Given the description of an element on the screen output the (x, y) to click on. 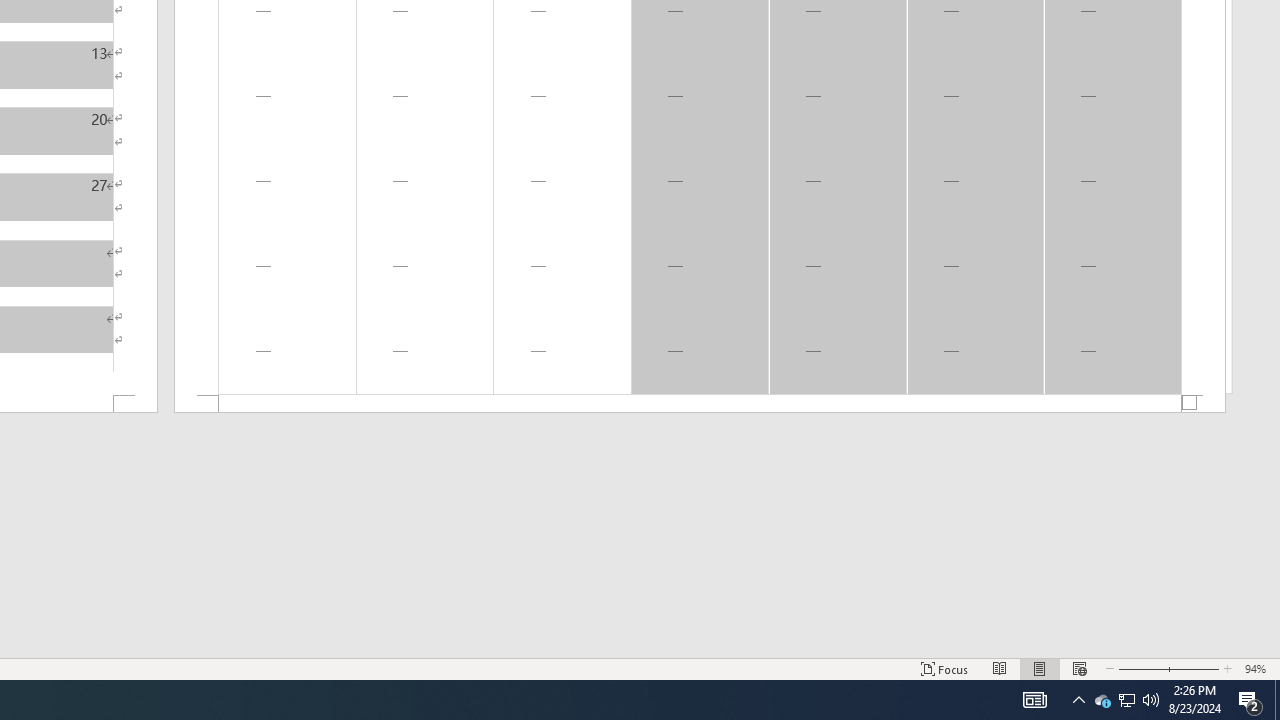
Notification Chevron (1078, 699)
Action Center, 2 new notifications (1250, 699)
